Given the description of an element on the screen output the (x, y) to click on. 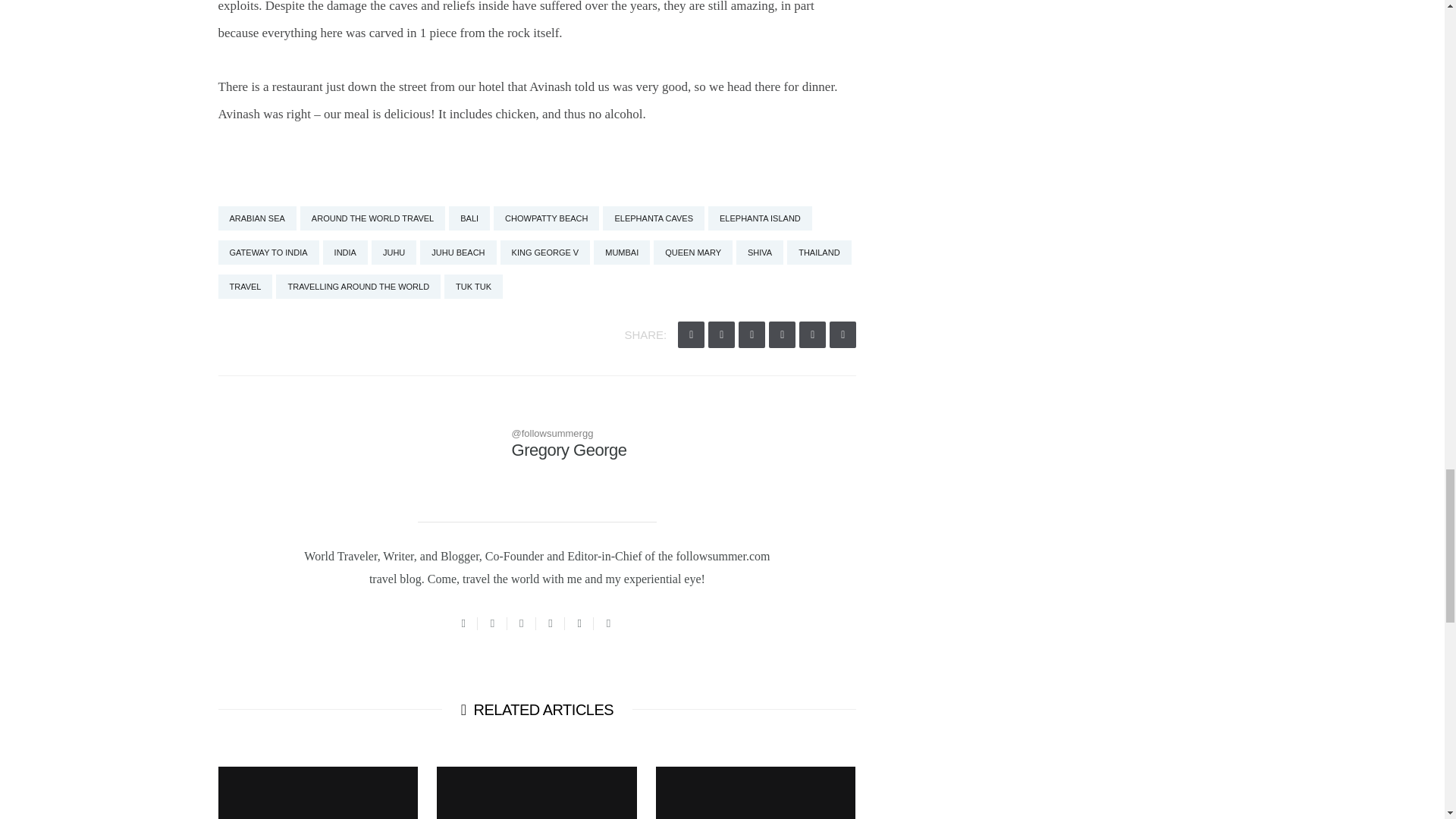
ARABIAN SEA (257, 218)
LinkedIn (608, 623)
KING GEORGE V (545, 252)
ELEPHANTA CAVES (653, 218)
TRAVELLING AROUND THE WORLD (358, 286)
ELEPHANTA ISLAND (759, 218)
THAILAND (818, 252)
JUHU BEACH (458, 252)
JUHU (393, 252)
Twitter (462, 623)
